Given the description of an element on the screen output the (x, y) to click on. 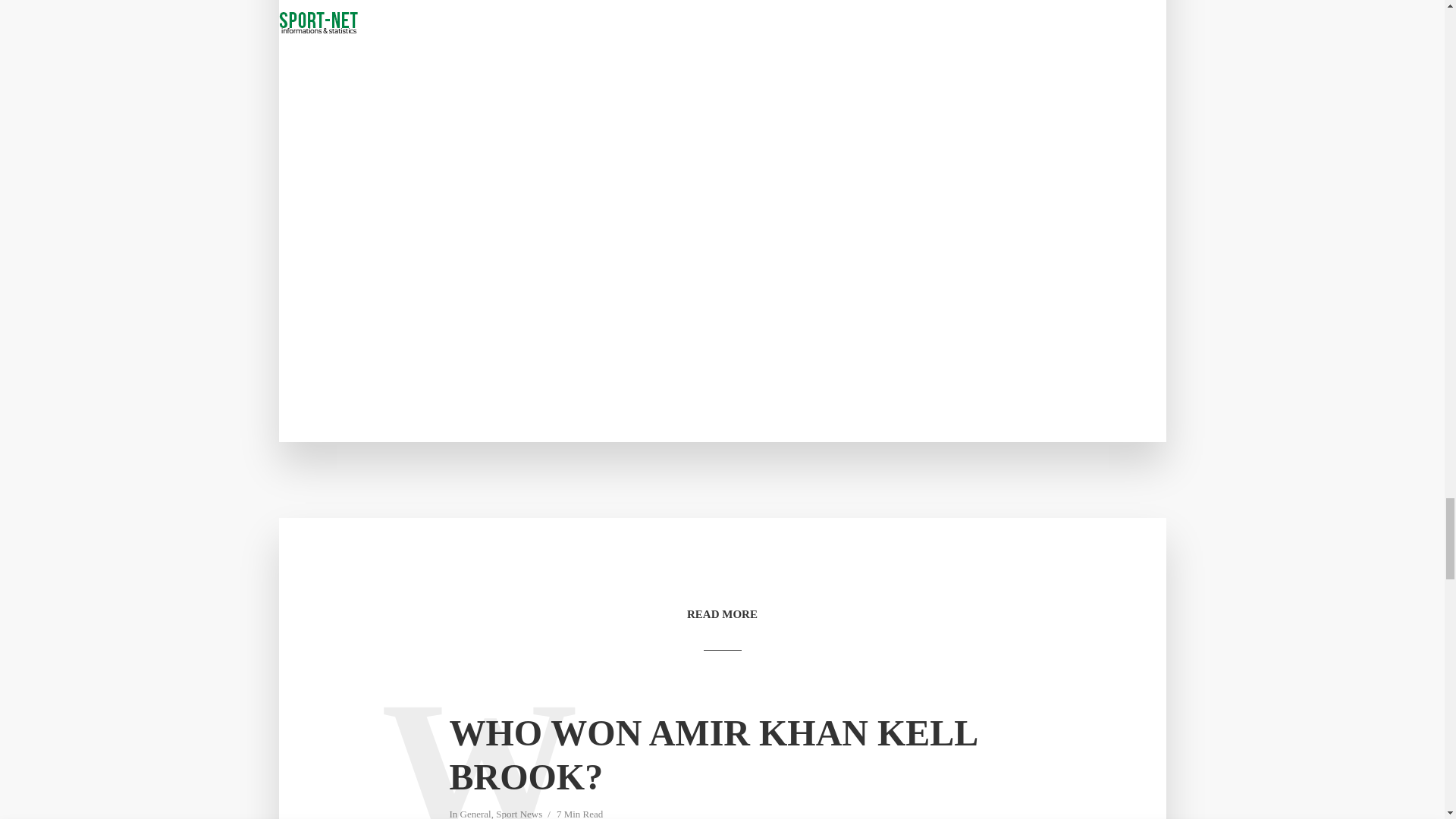
Sport News (518, 813)
WHO WON AMIR KHAN KELL BROOK? (721, 754)
General (476, 813)
